Given the description of an element on the screen output the (x, y) to click on. 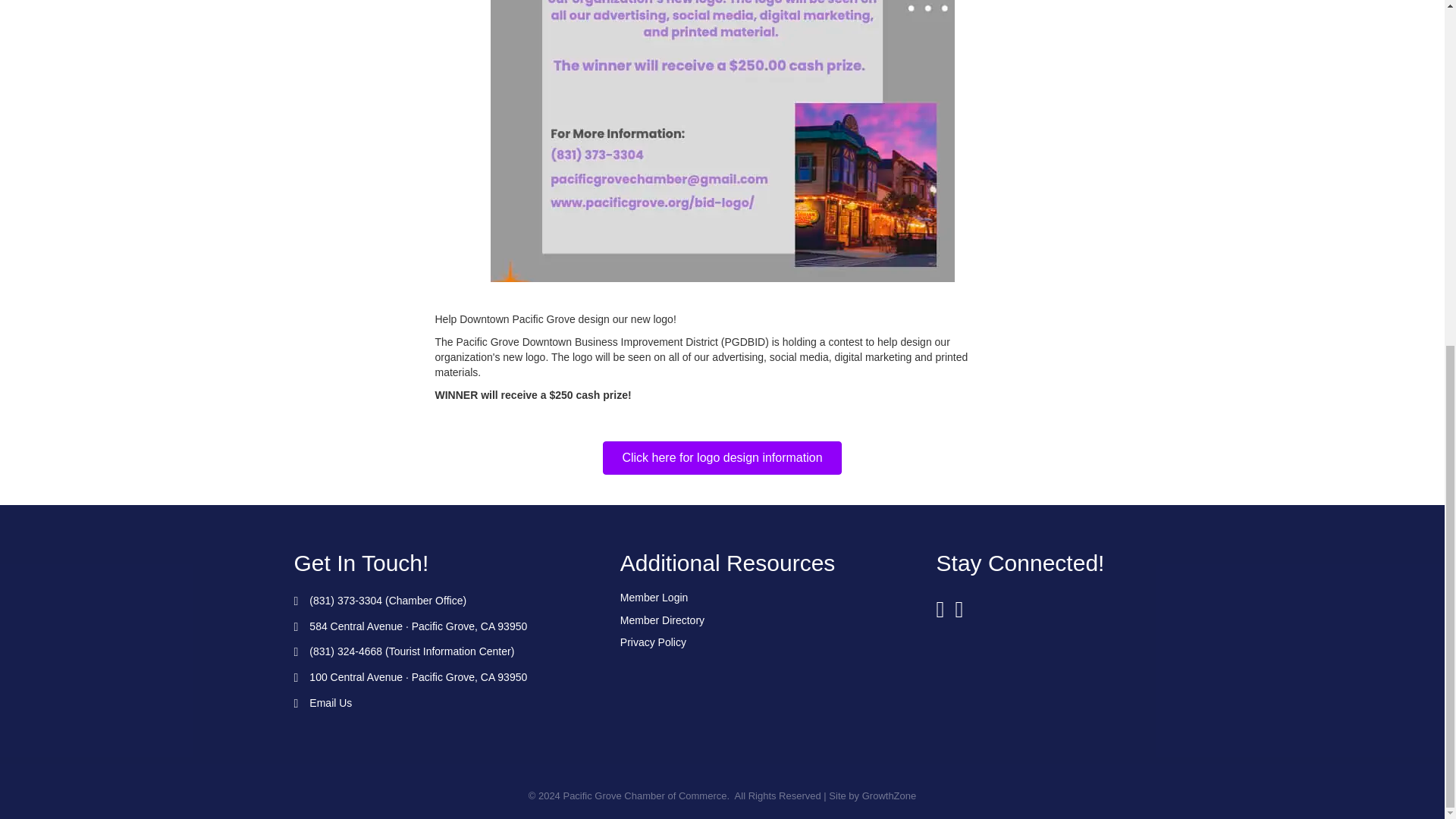
DBID Logo Contest Flyer r1 (721, 140)
